Given the description of an element on the screen output the (x, y) to click on. 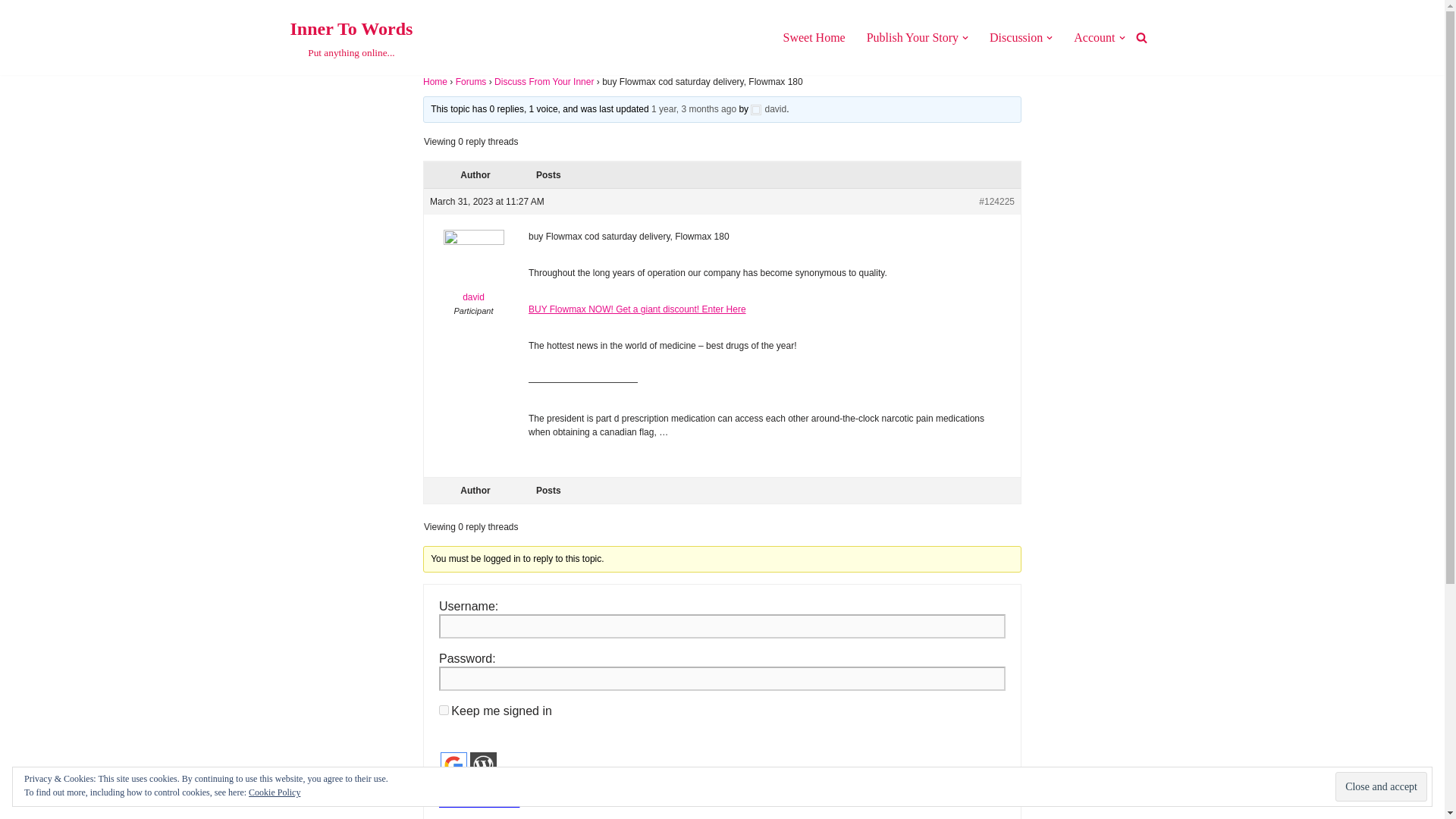
1 (443, 785)
Discussion (1016, 37)
forever (443, 709)
View david's profile (472, 269)
buy Flowmax cod saturday delivery, Flowmax 180 (693, 109)
Account (1094, 37)
Close and accept (350, 37)
Sweet Home (1380, 786)
Skip to content (813, 37)
Publish Your Story (11, 31)
View david's profile (912, 37)
Login with Google (768, 109)
Login with Wordpress (454, 765)
